Given the description of an element on the screen output the (x, y) to click on. 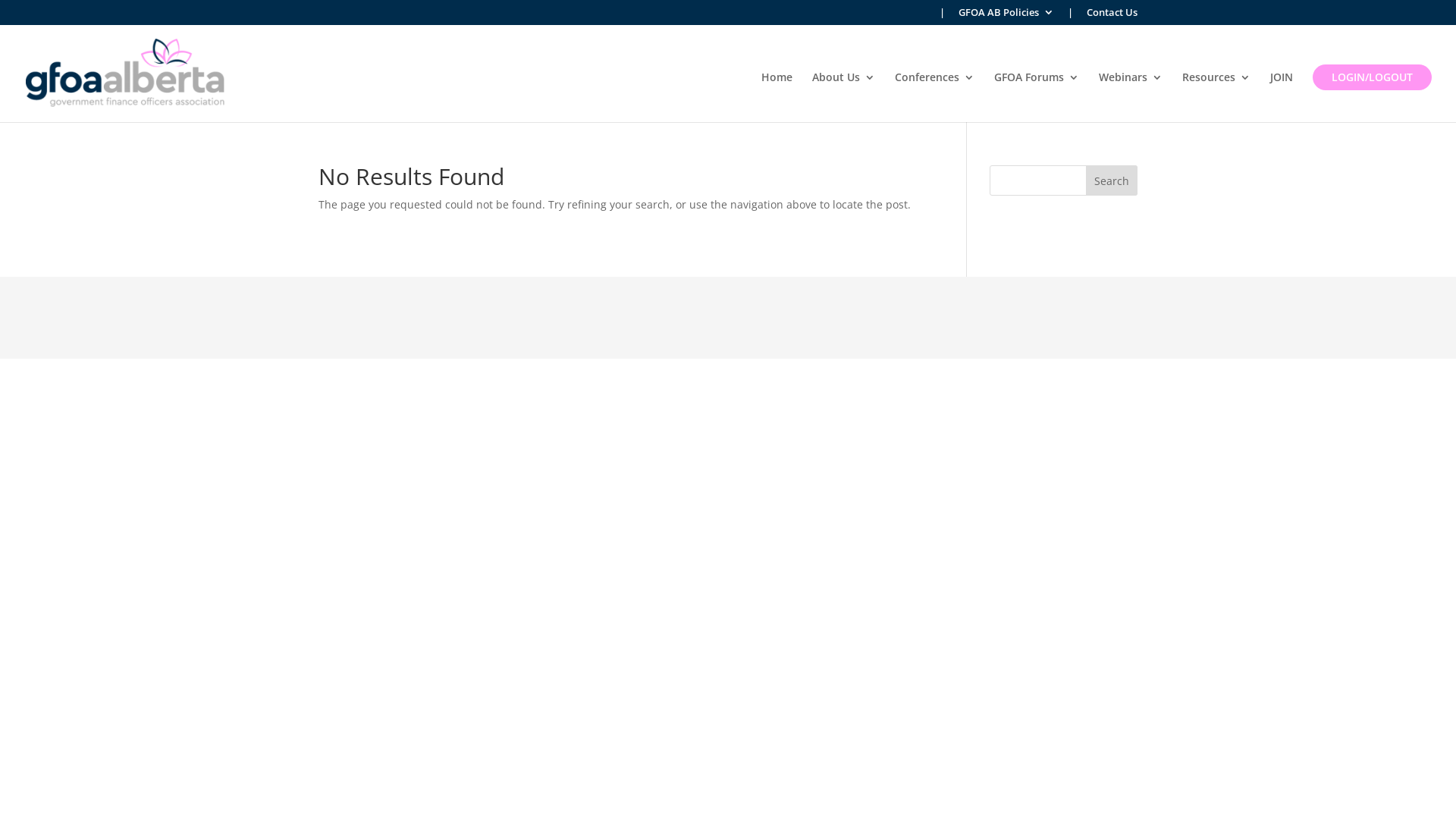
| Element type: text (941, 16)
Resources Element type: text (1216, 96)
GFOA AB Policies Element type: text (1006, 16)
Conferences Element type: text (934, 96)
JOIN Element type: text (1281, 96)
| Element type: text (1070, 16)
Search Element type: text (1111, 180)
Contact Us Element type: text (1111, 16)
GFOA Forums Element type: text (1036, 96)
Home Element type: text (776, 96)
About Us Element type: text (843, 96)
Webinars Element type: text (1130, 96)
LOGIN/LOGOUT Element type: text (1371, 76)
